Given the description of an element on the screen output the (x, y) to click on. 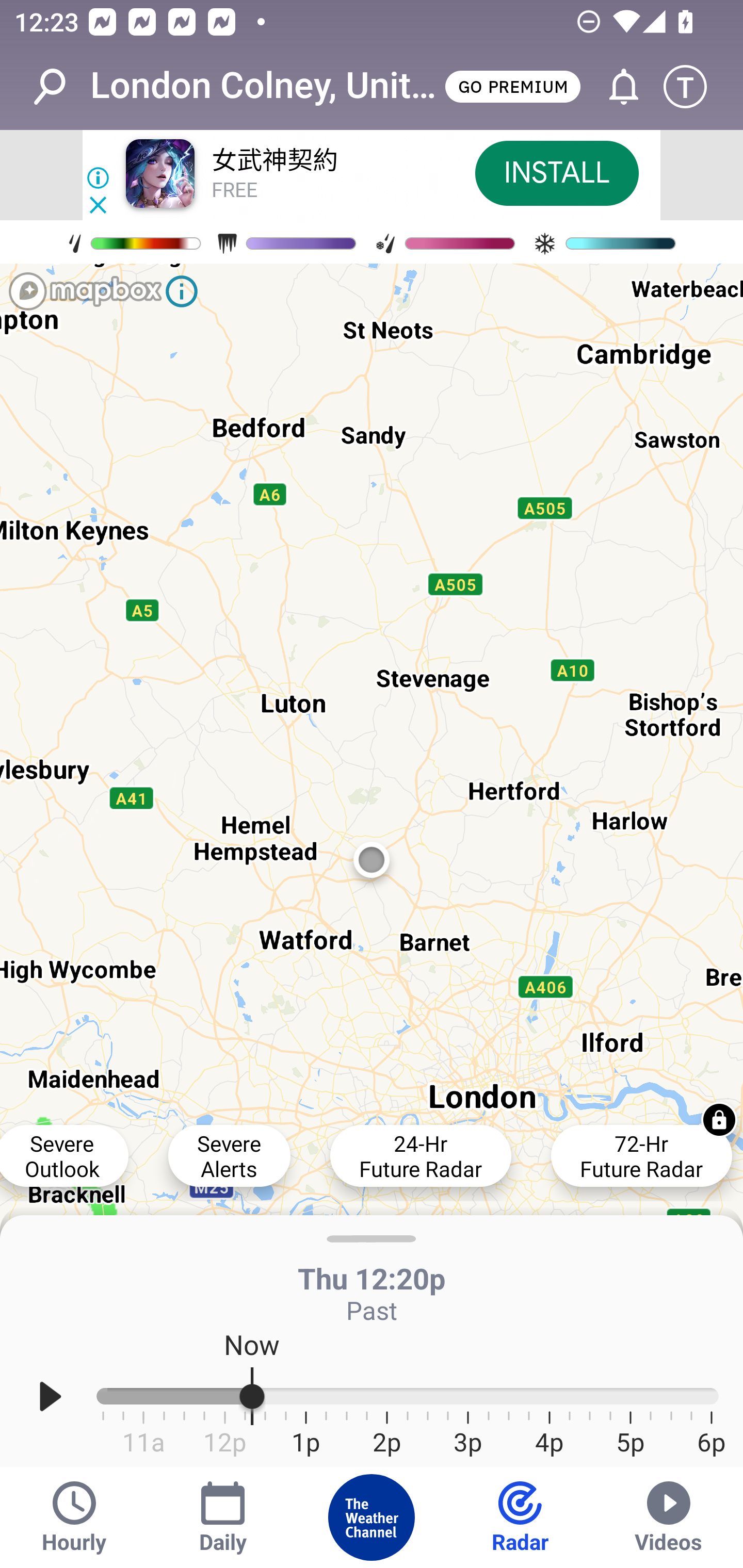
Search (59, 86)
Go to Alerts and Notifications (614, 86)
Setting icon T (694, 86)
London Colney, United Kingdom (265, 85)
GO PREMIUM (512, 85)
INSTALL (556, 173)
女武神契約 (274, 161)
FREE (234, 190)
Severe
Outlook Severe Outlook (64, 1155)
Severe
Alerts Severe Alerts (228, 1155)
24-Hr
Future Radar 24 Hour Future Radar (420, 1155)
Play (50, 1396)
Hourly Tab Hourly (74, 1517)
Daily Tab Daily (222, 1517)
Home Tab (371, 1517)
Videos Tab Videos (668, 1517)
